Given the description of an element on the screen output the (x, y) to click on. 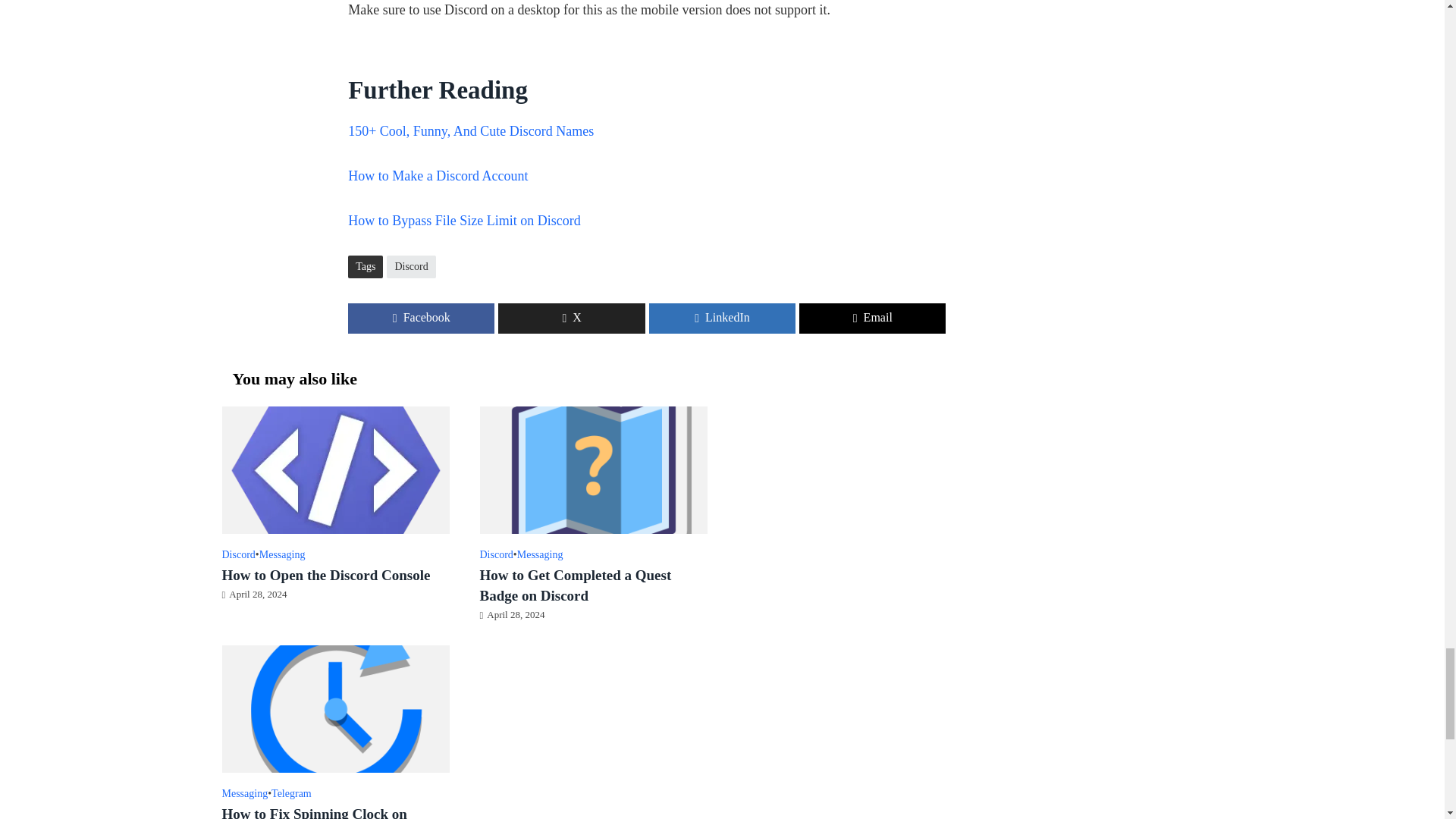
How to Get Completed a Quest Badge on Discord (592, 468)
How to Open the Discord Console (334, 468)
How to Fix Spinning Clock on Telegram (334, 707)
